Given the description of an element on the screen output the (x, y) to click on. 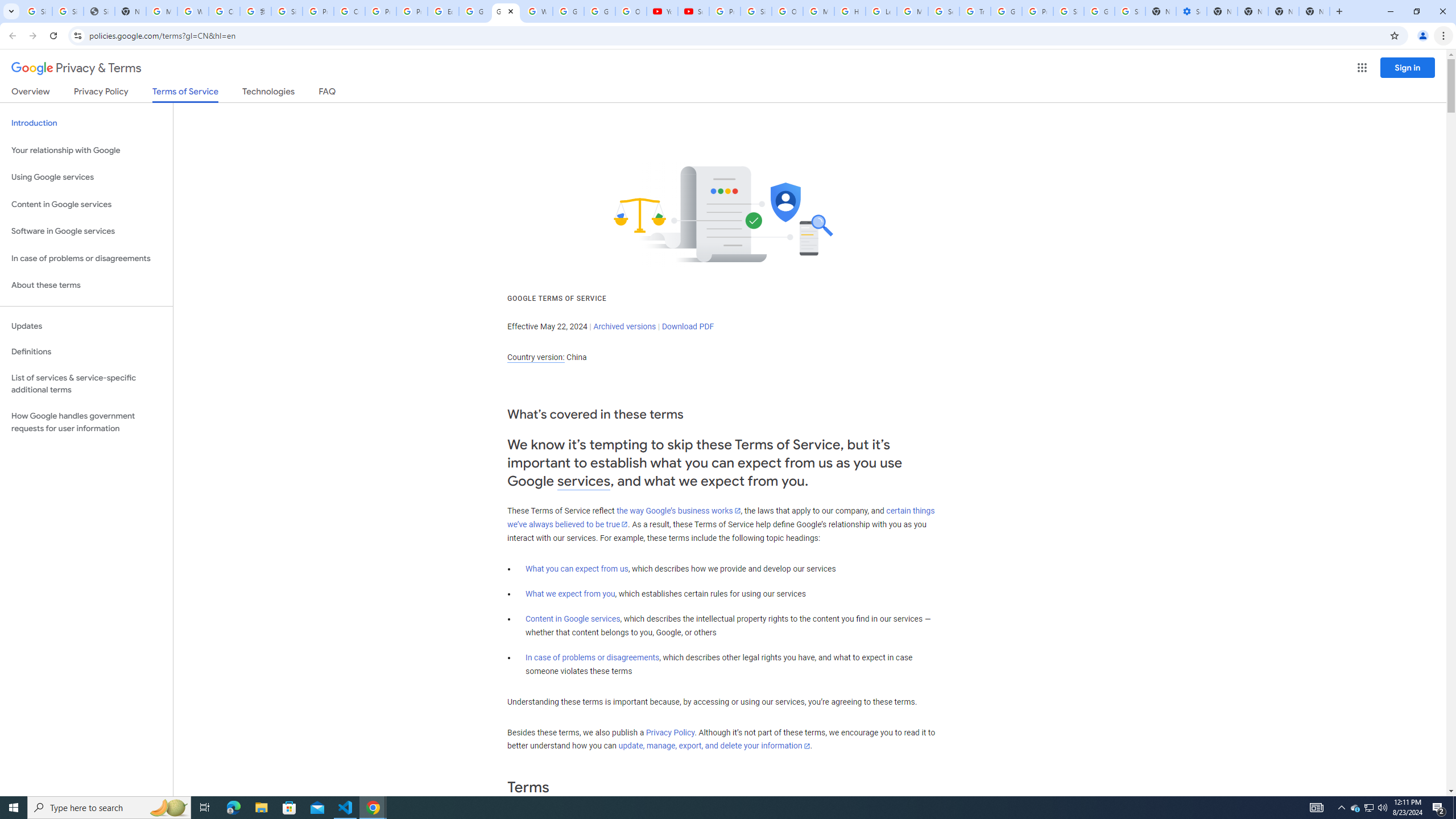
Sign in - Google Accounts (756, 11)
Country version: (535, 357)
Archived versions (624, 326)
What we expect from you (570, 593)
Sign in - Google Accounts (1068, 11)
Google Ads - Sign in (1005, 11)
Who is my administrator? - Google Account Help (192, 11)
In case of problems or disagreements (592, 657)
Search our Doodle Library Collection - Google Doodles (943, 11)
Introduction (86, 122)
